Given the description of an element on the screen output the (x, y) to click on. 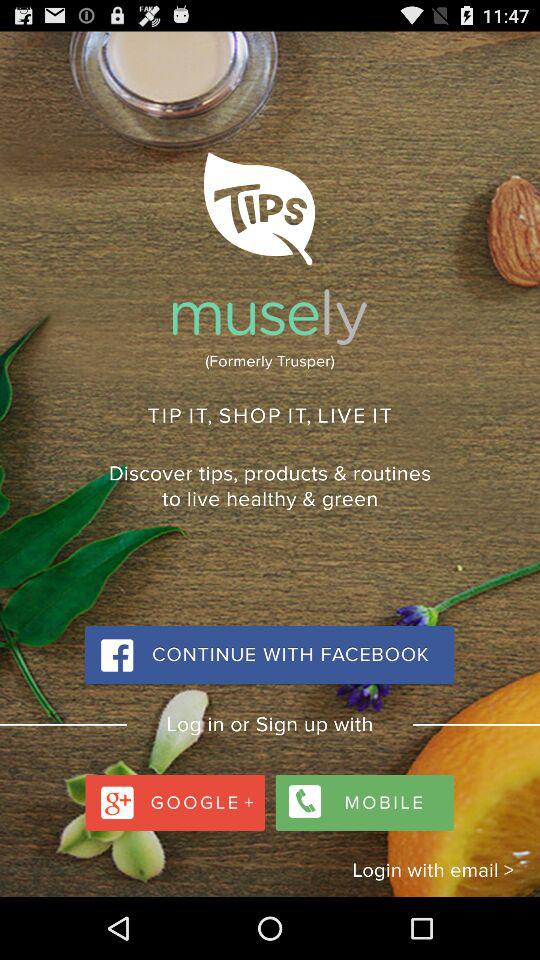
google home (177, 797)
